Given the description of an element on the screen output the (x, y) to click on. 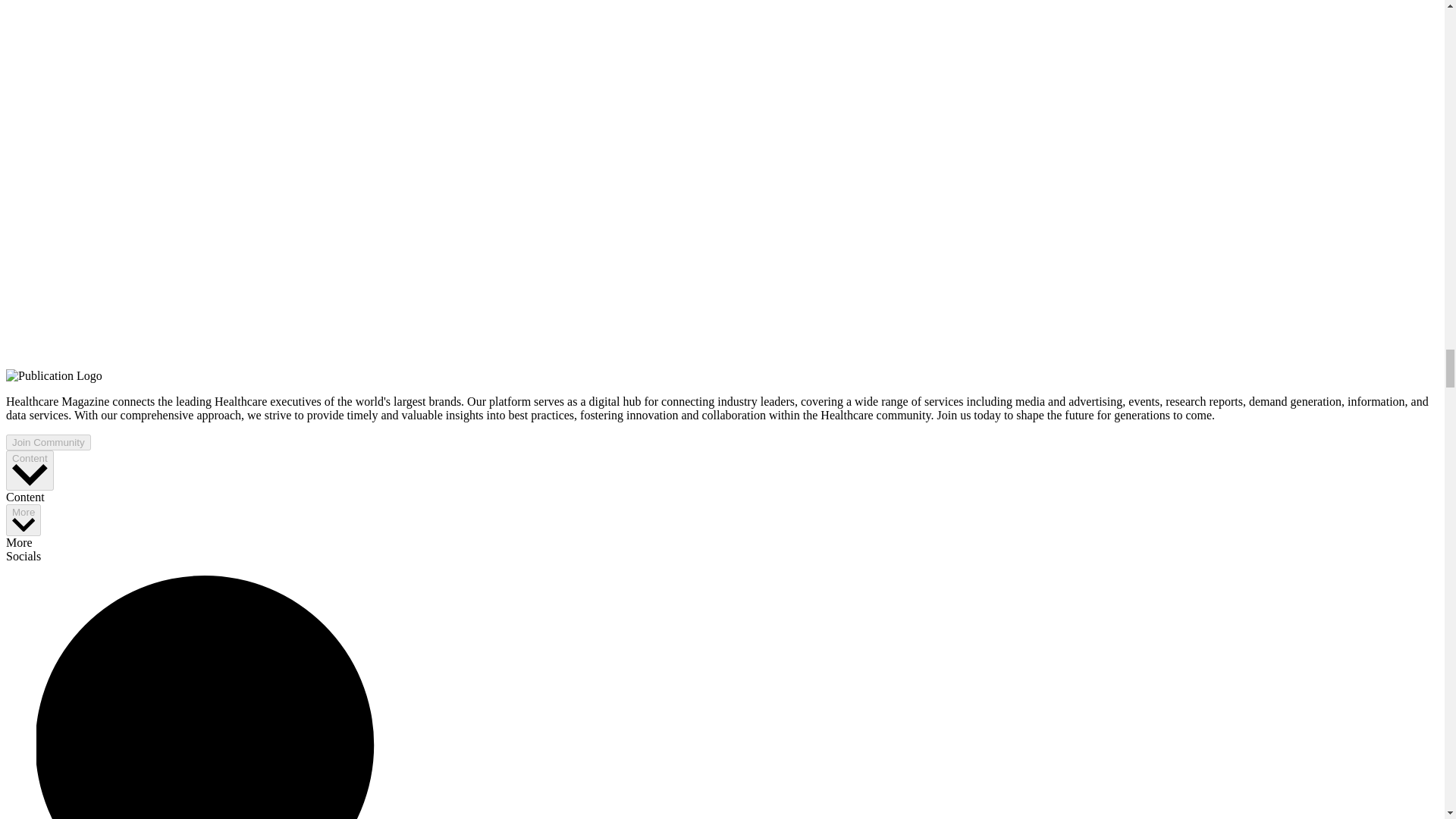
Content (29, 470)
Join Community (47, 442)
More (22, 520)
